Given the description of an element on the screen output the (x, y) to click on. 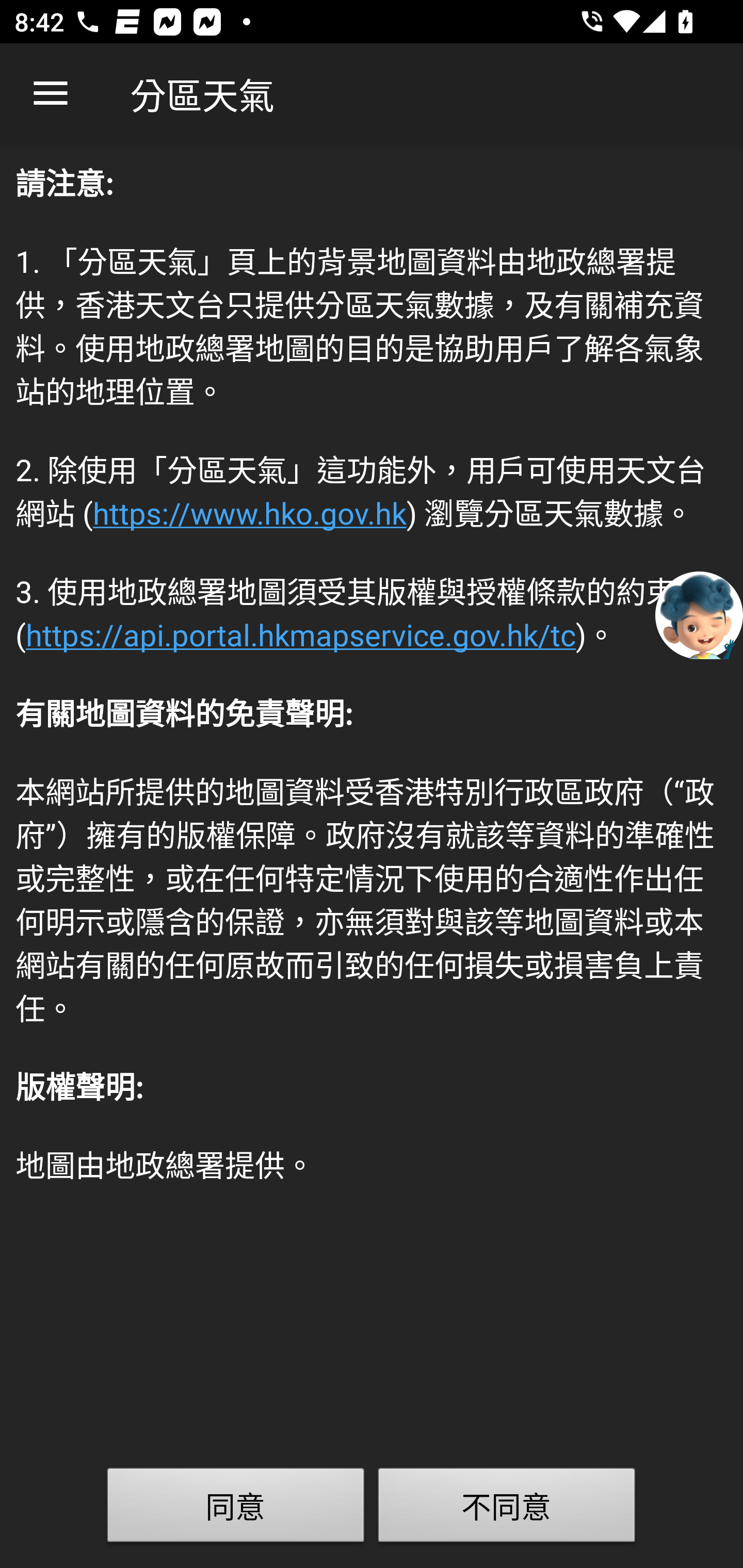
向上瀏覽 (50, 93)
聊天機械人 (699, 614)
同意 (235, 1509)
不同意 (506, 1509)
